Given the description of an element on the screen output the (x, y) to click on. 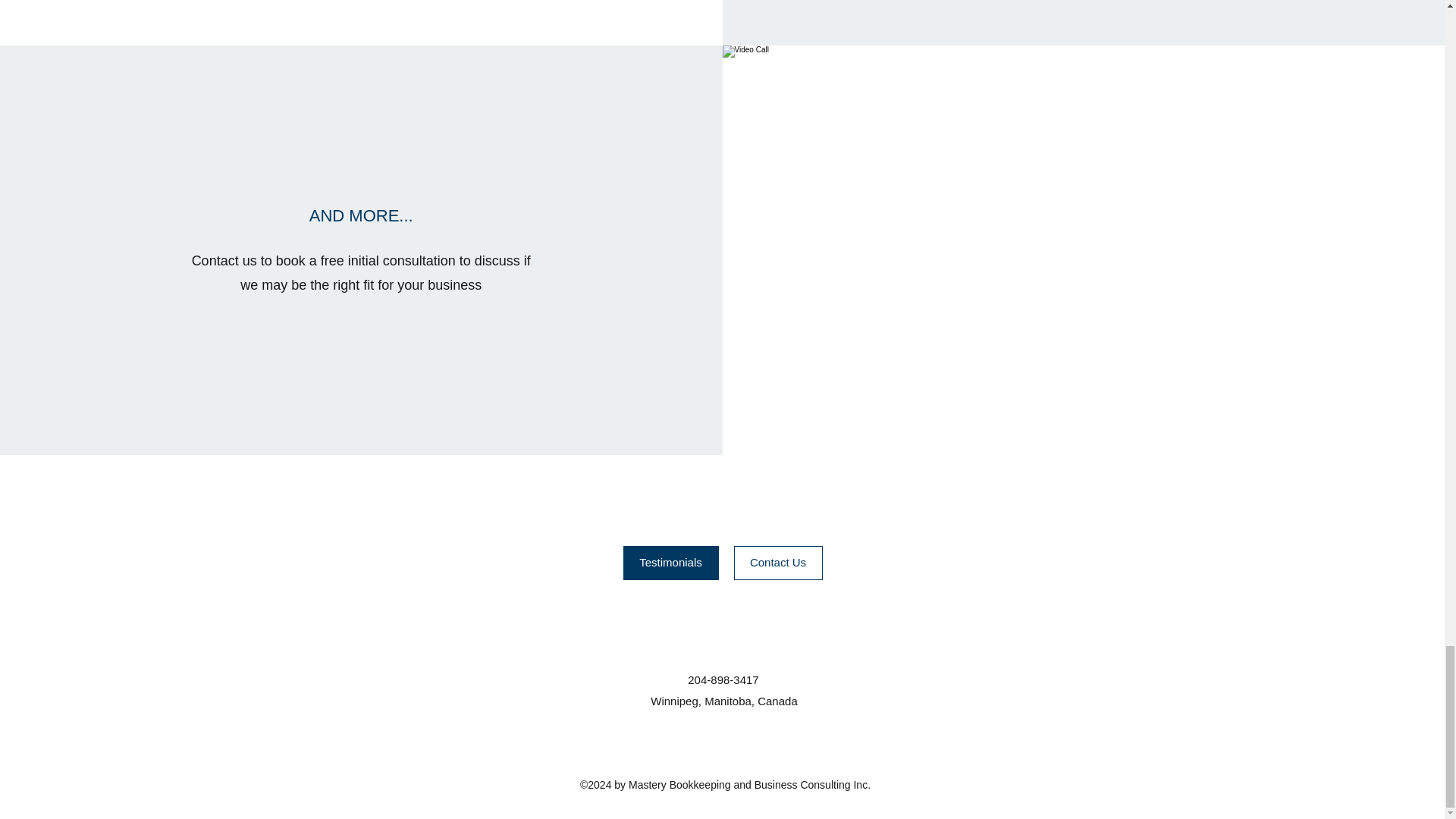
Contact Us (777, 562)
Testimonials (671, 562)
